Given the description of an element on the screen output the (x, y) to click on. 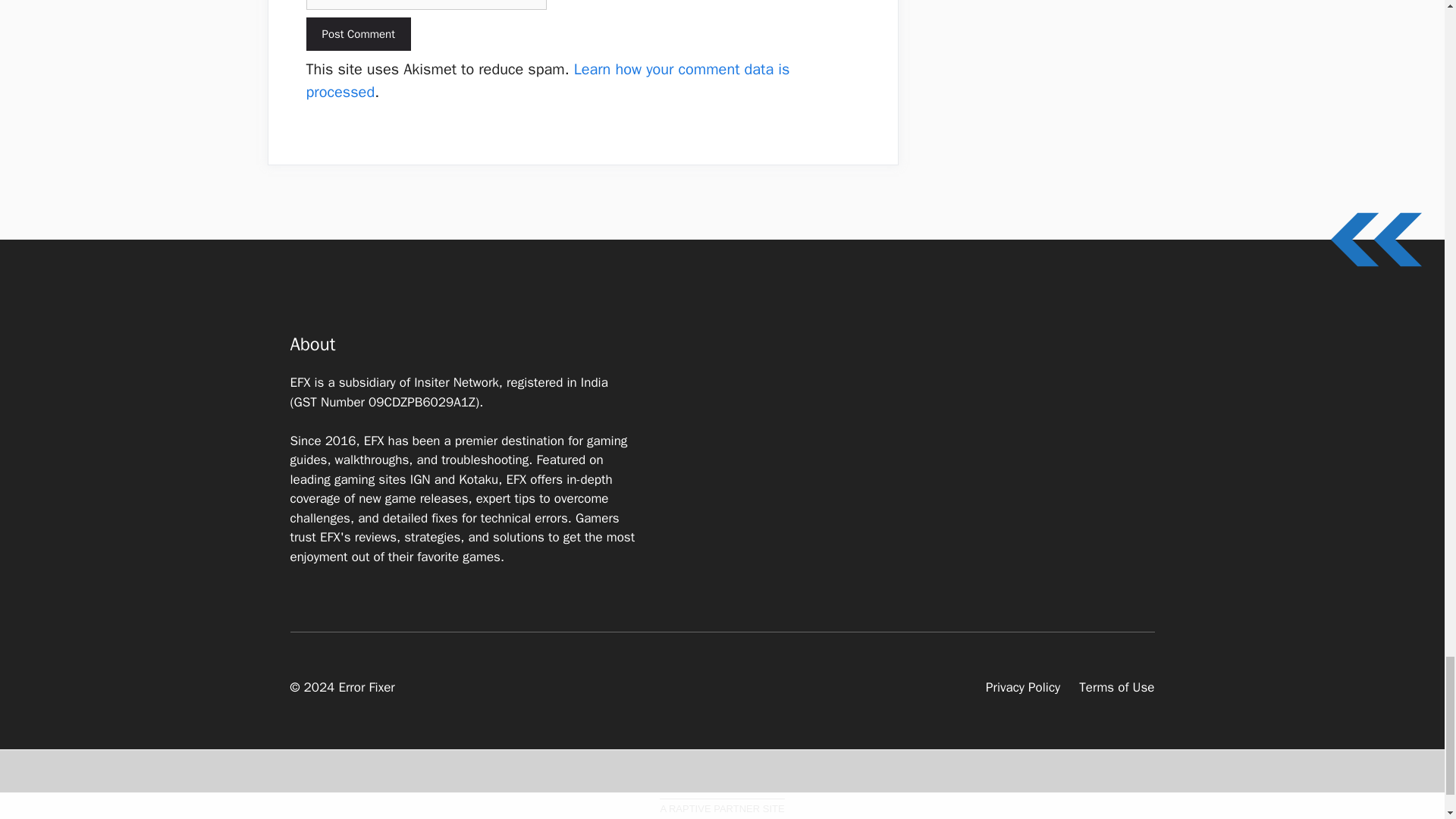
Post Comment (357, 34)
